Given the description of an element on the screen output the (x, y) to click on. 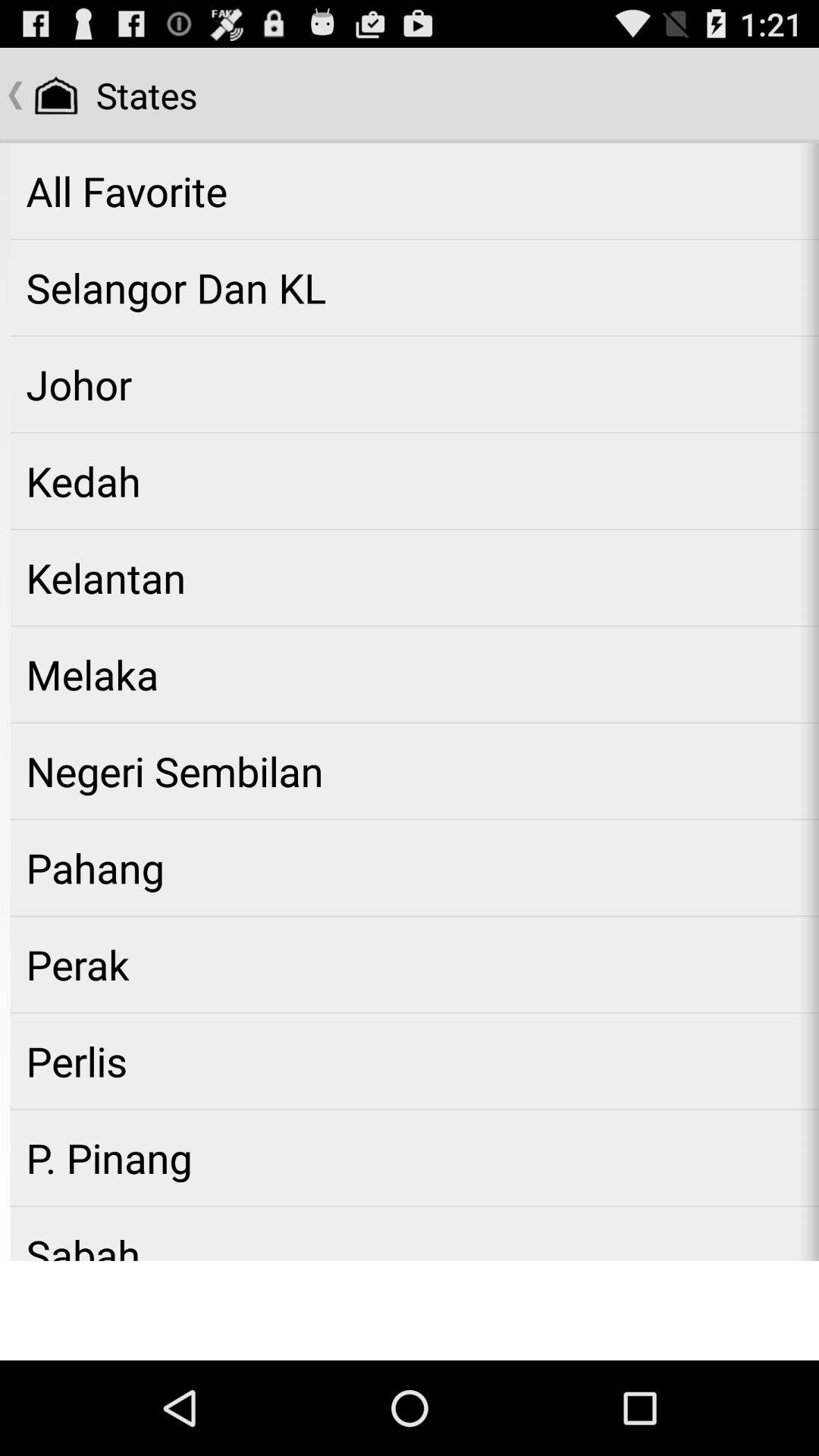
swipe until johor item (414, 384)
